Given the description of an element on the screen output the (x, y) to click on. 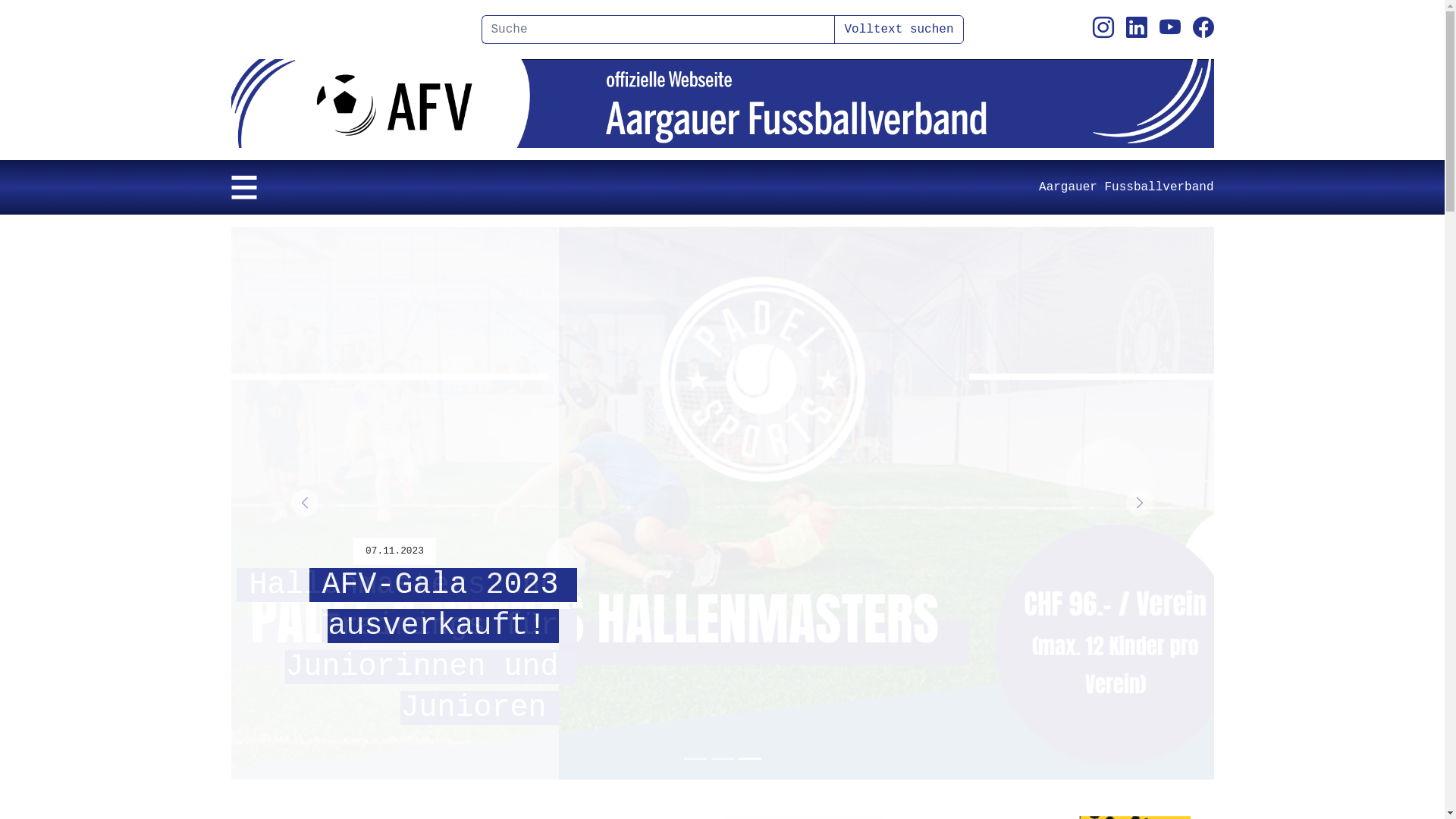
Linkedin Element type: hover (1135, 28)
Facebook Element type: hover (1202, 28)
Next Element type: text (1139, 502)
Youtube Element type: hover (1168, 28)
Previous Element type: text (303, 502)
Volltext suchen Element type: text (898, 29)
Instagram Element type: hover (1102, 28)
